Given the description of an element on the screen output the (x, y) to click on. 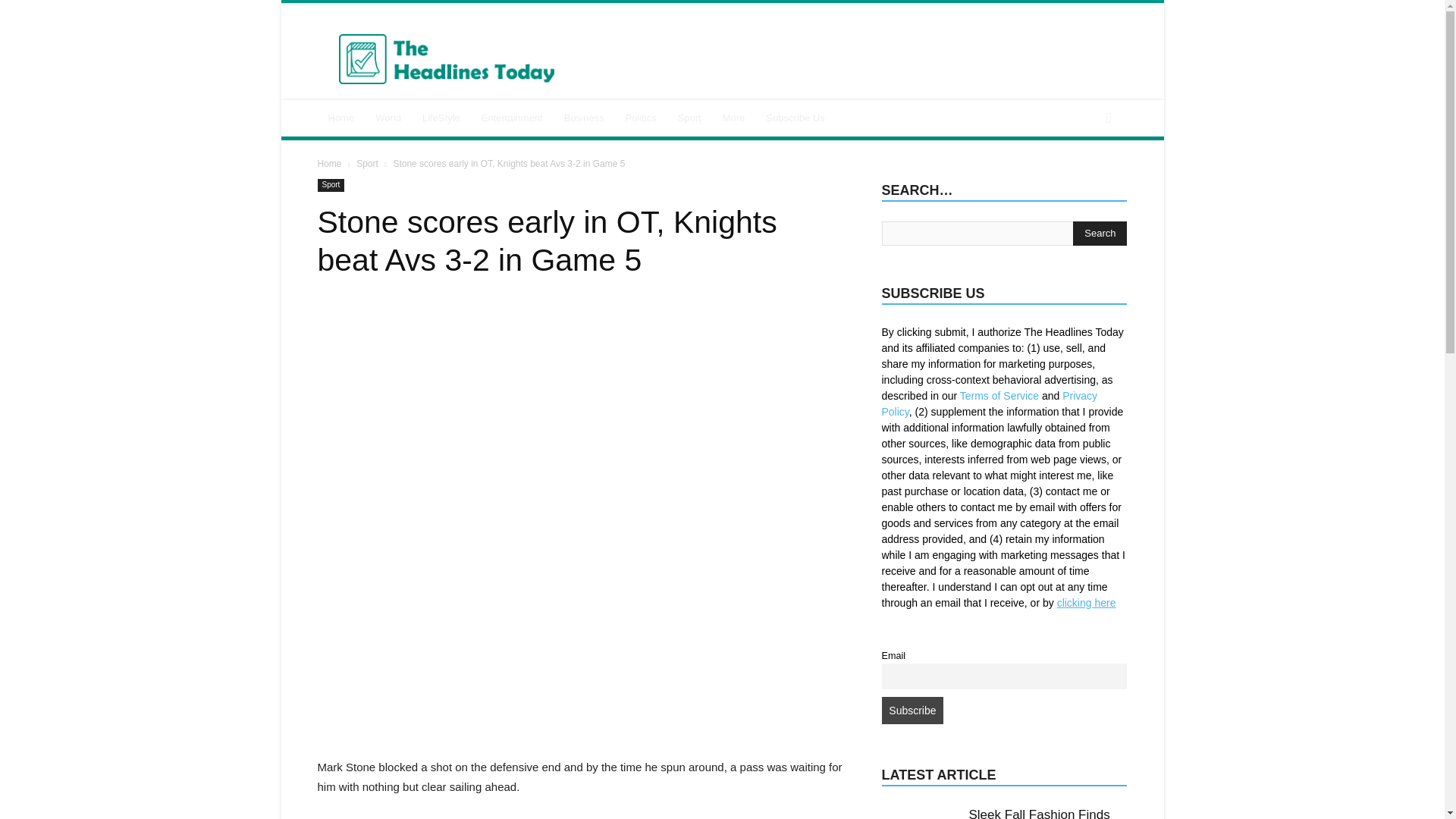
More (733, 117)
Subscribe Us (794, 117)
Home (341, 117)
Entertainment (511, 117)
Home (328, 163)
View all posts in Sport (367, 163)
Politics (640, 117)
Subscribe (911, 709)
World (388, 117)
Search (1083, 178)
